Given the description of an element on the screen output the (x, y) to click on. 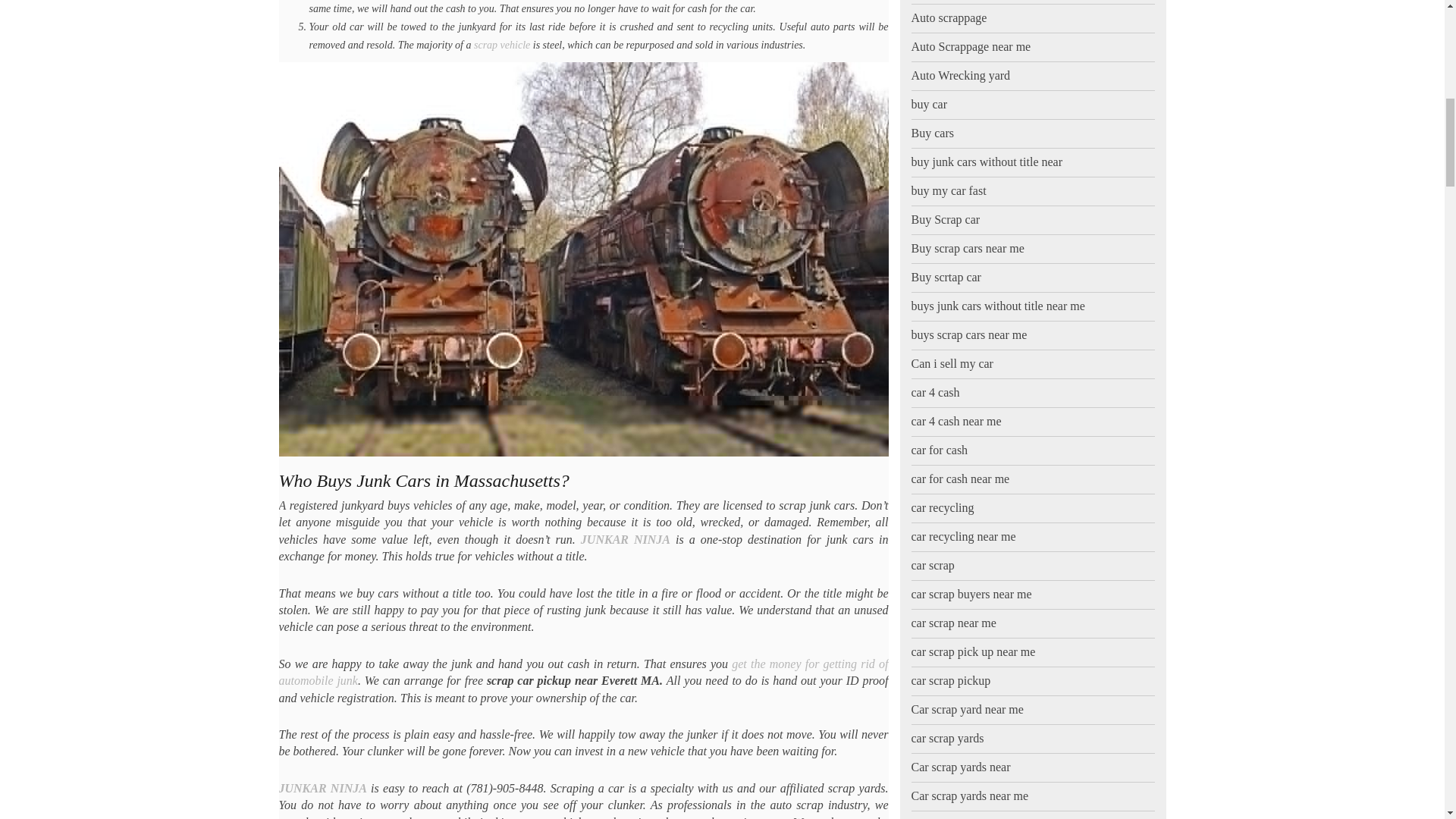
JUNKAR NINJA (624, 539)
get the money for getting rid of automobile junk (583, 672)
scrap vehicle (501, 44)
JUNKAR NINJA (322, 788)
